Given the description of an element on the screen output the (x, y) to click on. 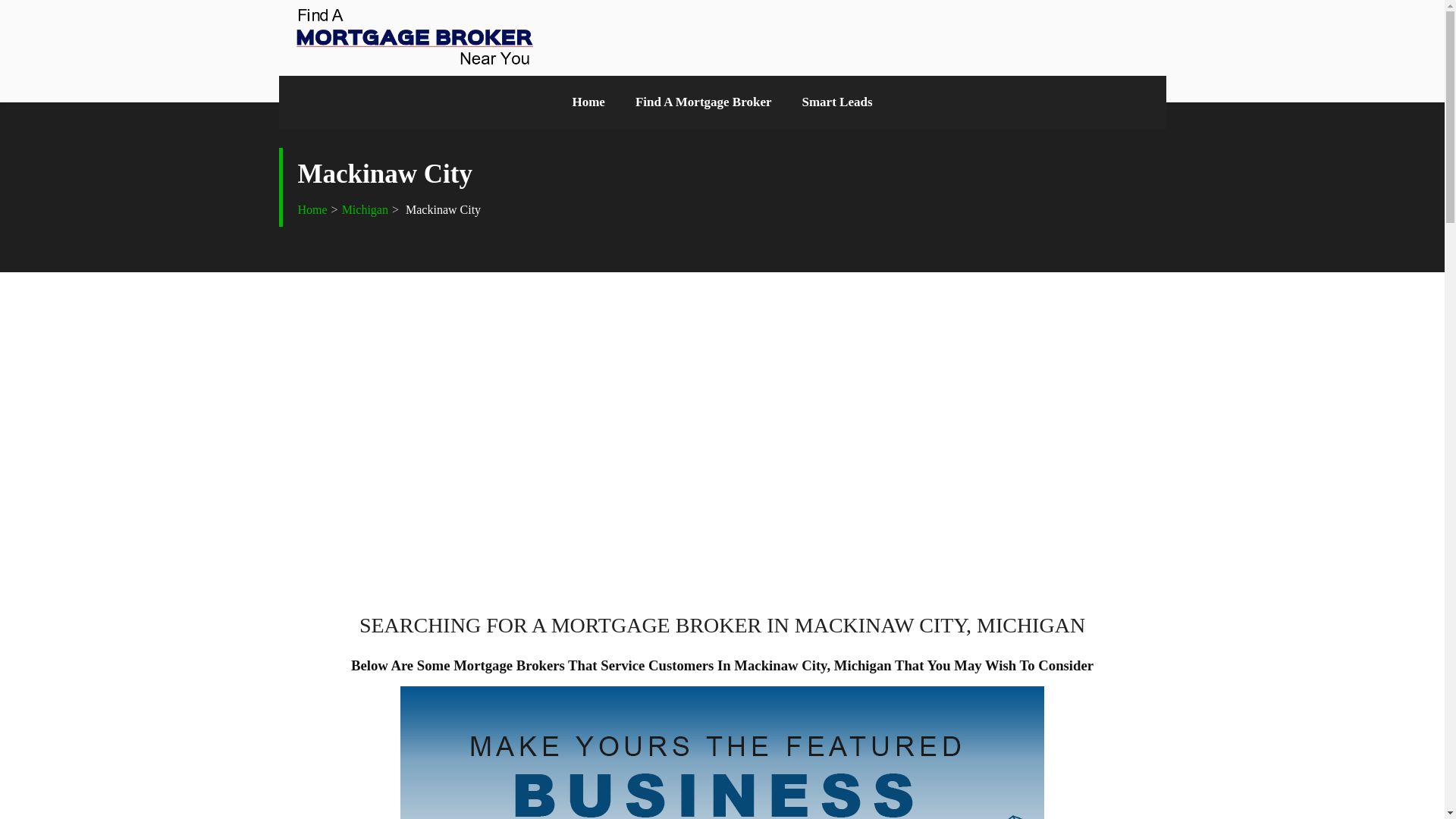
Michigan (365, 209)
Find A Mortgage Broker (703, 102)
Mackinaw City (441, 209)
Home (311, 209)
Home (311, 209)
Home (588, 102)
Smart Leads (837, 102)
Find a Mortgage Broker (703, 102)
Home (588, 102)
Michigan (365, 209)
